Given the description of an element on the screen output the (x, y) to click on. 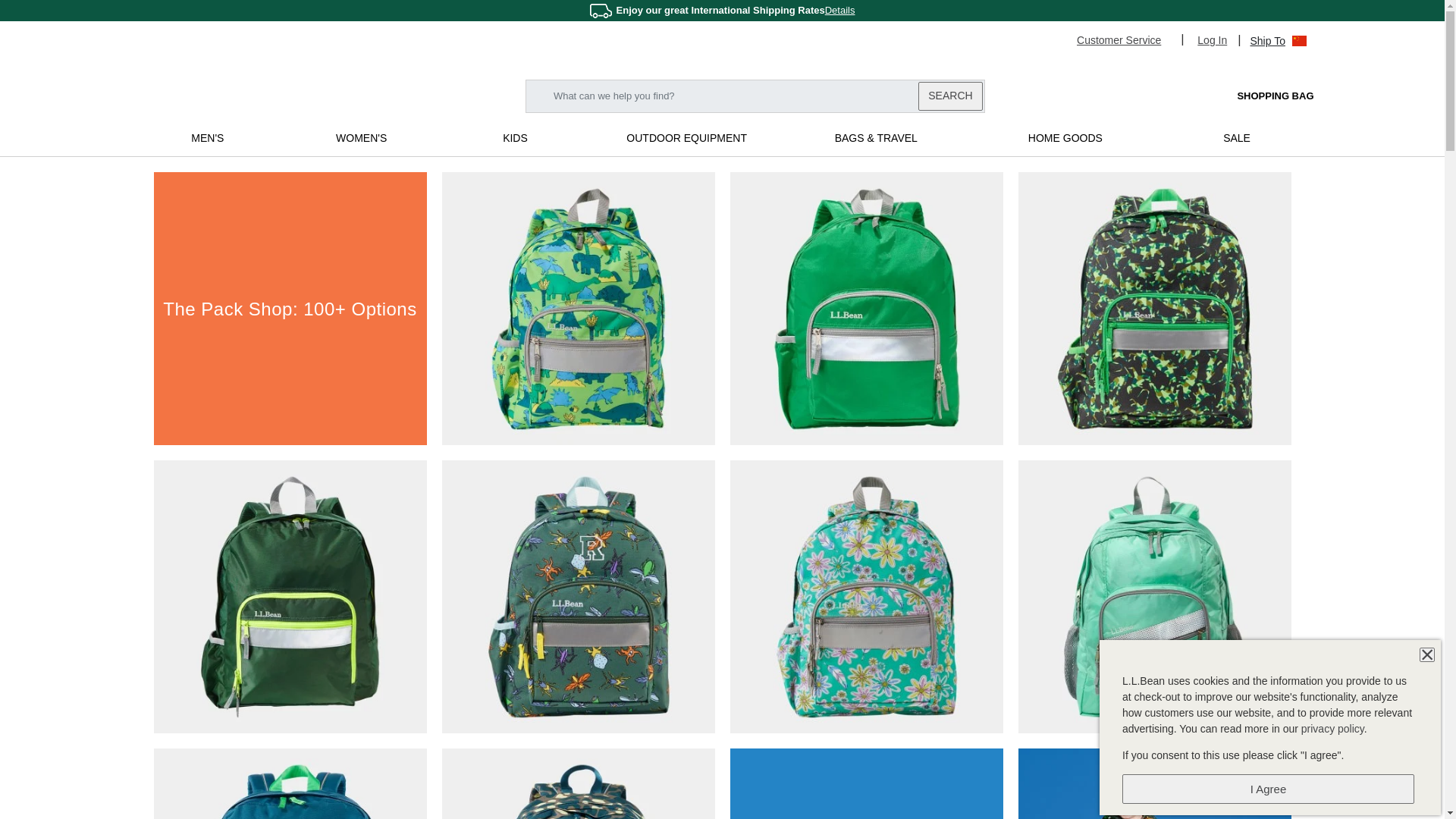
SHOPPING BAG (1260, 95)
Cart 0 Items (1260, 95)
SEARCH (949, 95)
MEN'S (207, 137)
Log In (1211, 39)
Details (840, 9)
Details (840, 9)
Customer Service (1125, 39)
L.L.Bean Home Page L.L.Bean (221, 94)
